Given the description of an element on the screen output the (x, y) to click on. 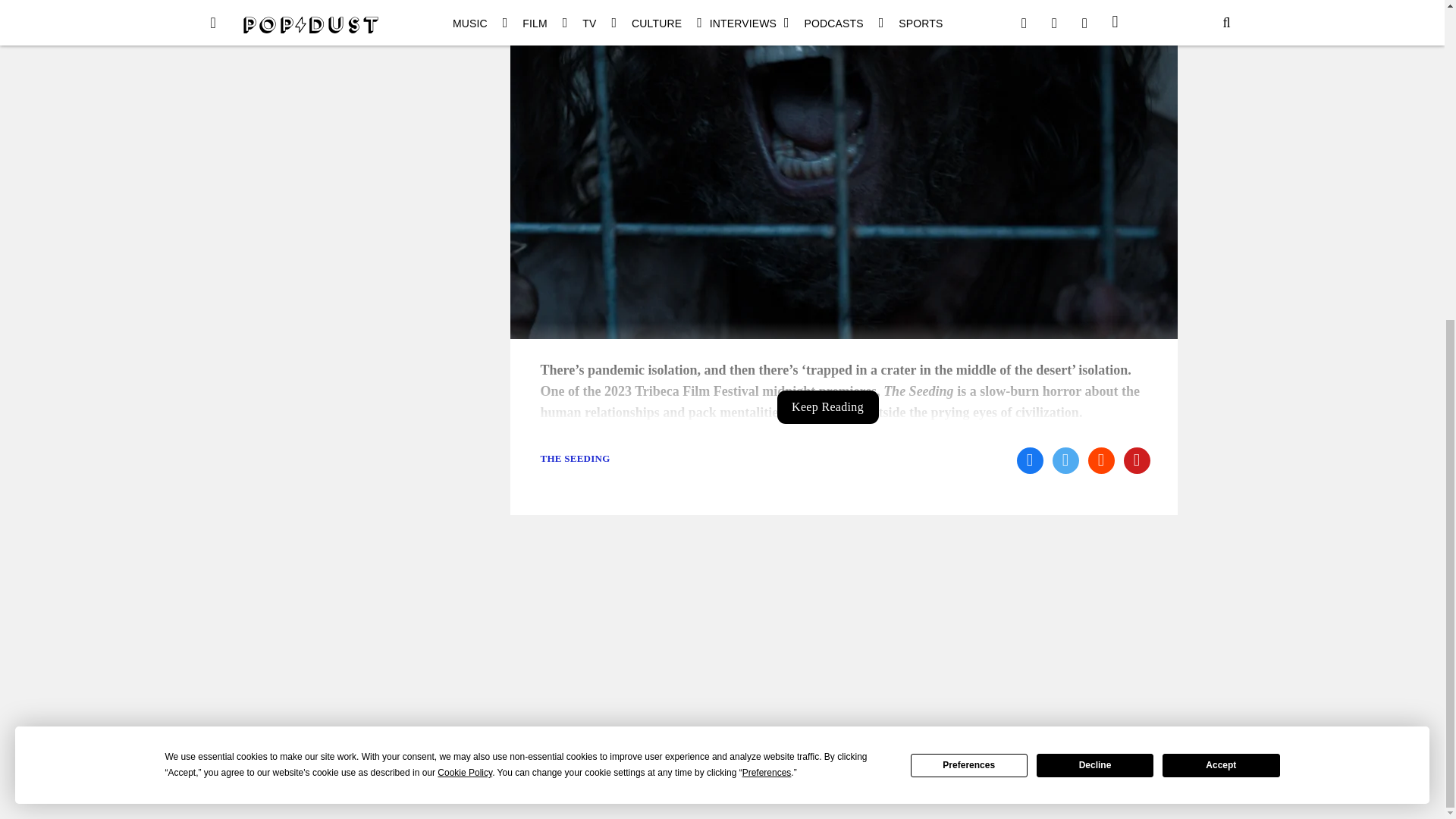
Preferences (969, 247)
Decline (1094, 247)
Accept (1220, 247)
